Given the description of an element on the screen output the (x, y) to click on. 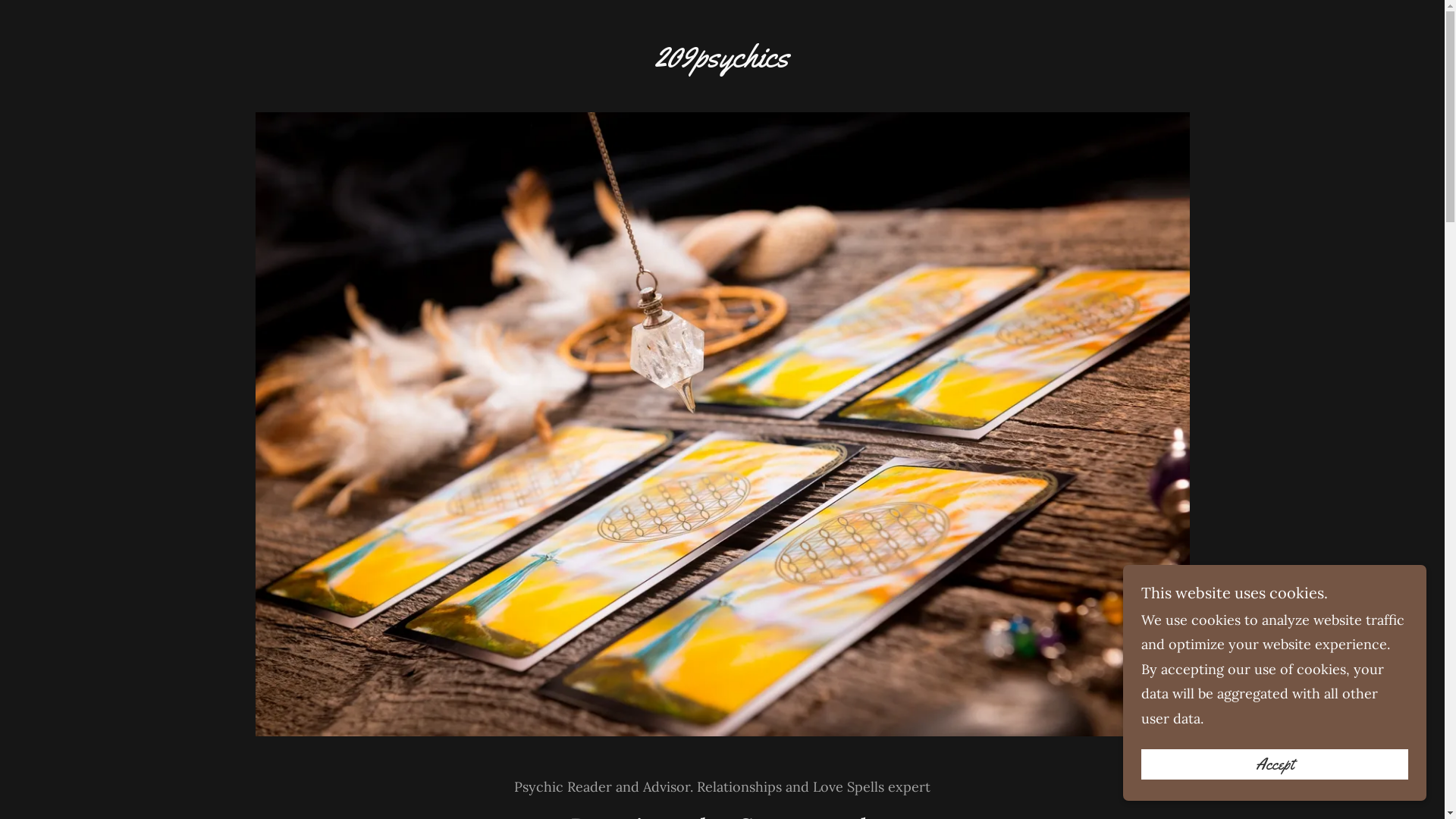
209psychics Element type: text (721, 61)
Accept Element type: text (1274, 764)
